Given the description of an element on the screen output the (x, y) to click on. 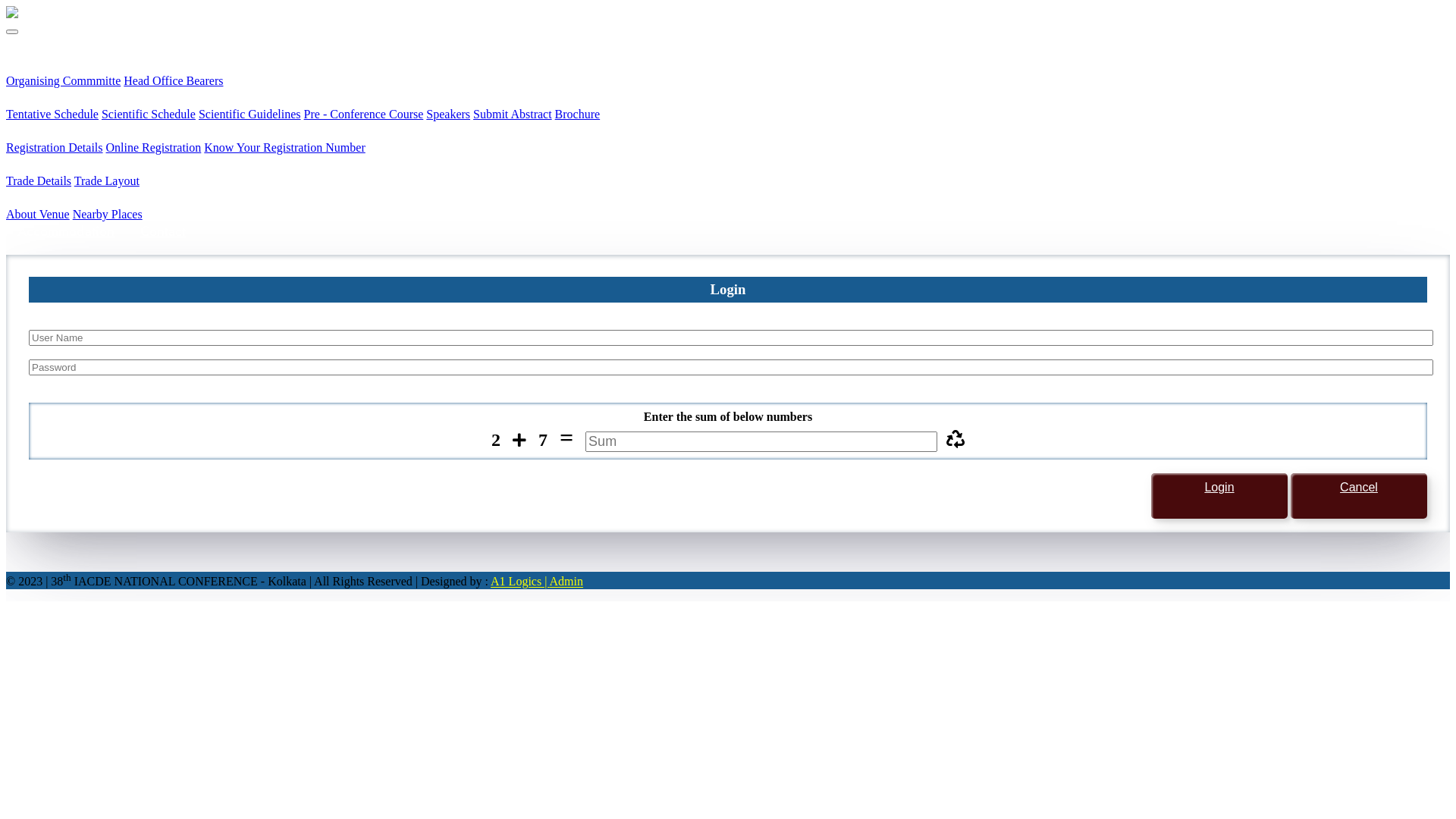
Trade Layout Element type: text (106, 180)
Login Element type: text (1219, 495)
Pre - Conference Course Element type: text (363, 113)
Scientific Guidelines Element type: text (249, 113)
Organising Commmitte Element type: text (63, 80)
Scientific Element type: text (45, 97)
Online Registration Element type: text (153, 147)
Home Element type: text (35, 44)
Registration Details Element type: text (54, 147)
Know Your Registration Number Element type: text (283, 147)
Contact Element type: text (162, 231)
Admin Element type: text (565, 581)
Committe Element type: text (45, 64)
A1 Logics | Element type: text (519, 581)
Registration Element type: text (53, 130)
Scientific Schedule Element type: text (148, 113)
Speakers Element type: text (448, 113)
Trade Details Element type: text (38, 180)
Brochure Element type: text (577, 113)
Trade & Sponsorship Element type: text (81, 164)
Nearby Places Element type: text (107, 213)
Cancel Element type: text (1358, 495)
Venue Element type: text (36, 197)
About Venue Element type: text (37, 213)
Head Office Bearers Element type: text (172, 80)
Submit Abstract Element type: text (512, 113)
Accommodation Element type: text (65, 231)
Tentative Schedule Element type: text (52, 113)
